Given the description of an element on the screen output the (x, y) to click on. 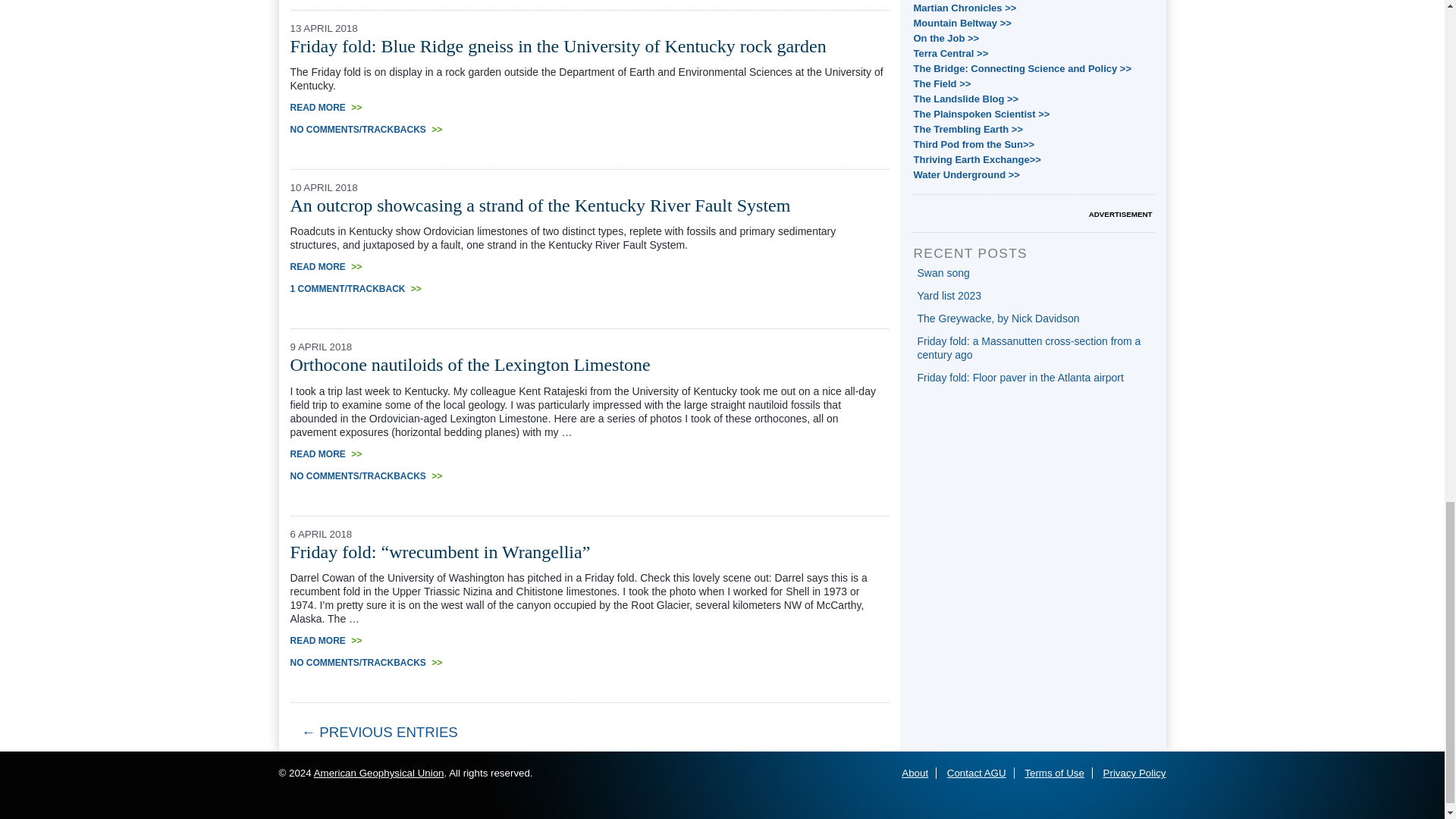
Orthocone nautiloids of the Lexington Limestone (469, 364)
